Given the description of an element on the screen output the (x, y) to click on. 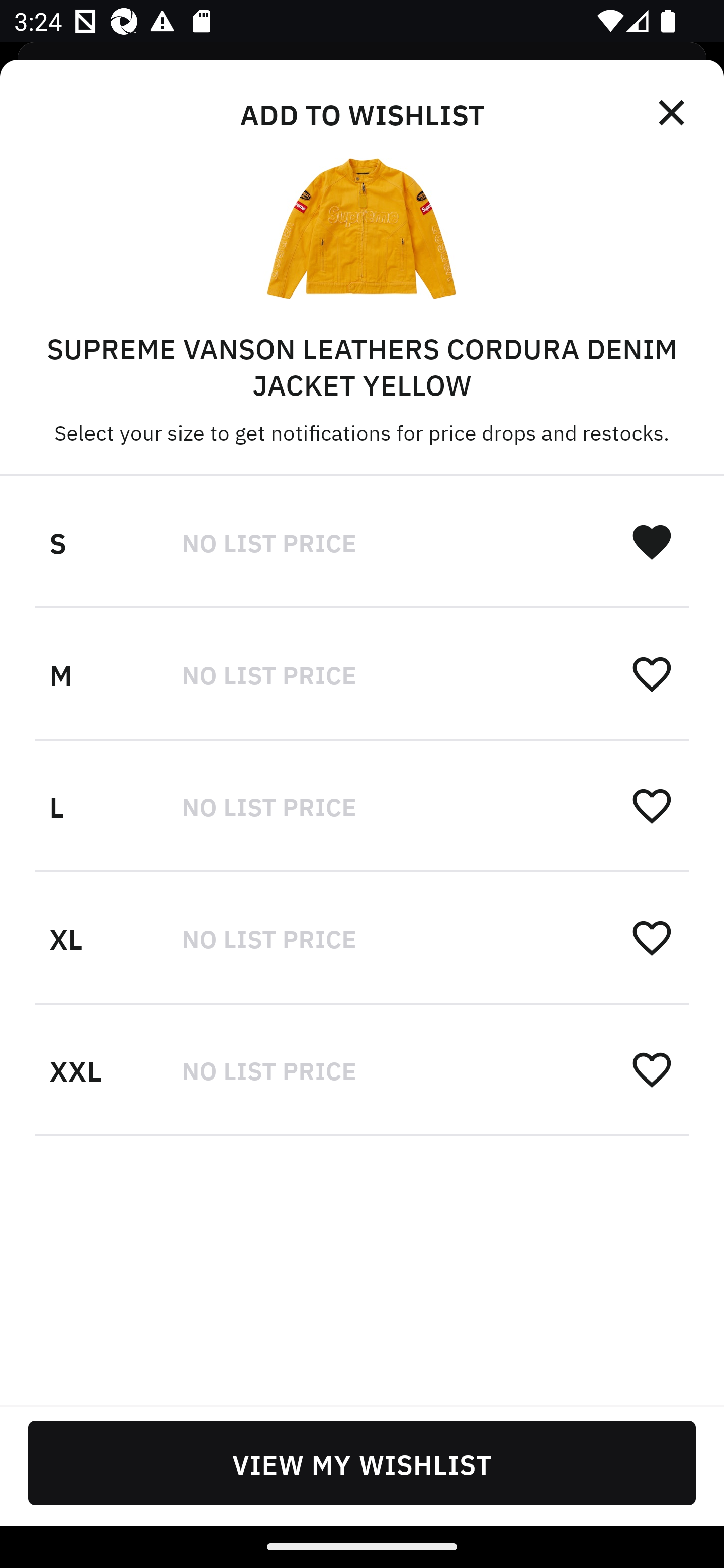
 (672, 112)
󰋑 (651, 541)
󰋕 (651, 673)
󰋕 (651, 804)
󰋕 (651, 936)
󰋕 (651, 1068)
VIEW MY WISHLIST (361, 1462)
